Given the description of an element on the screen output the (x, y) to click on. 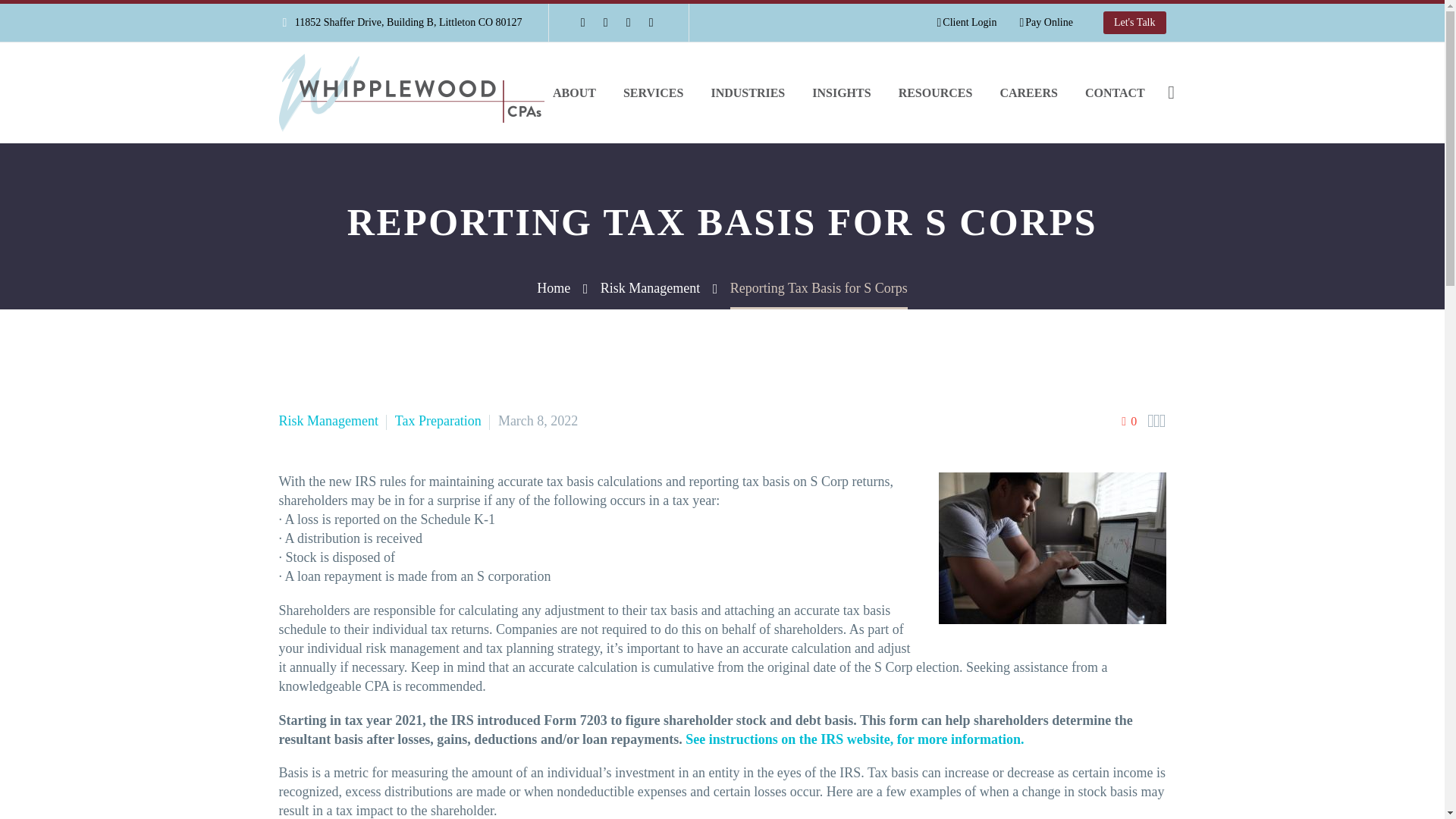
Pay Online (1045, 22)
SERVICES (652, 92)
View all posts in Tax Preparation (437, 420)
View all posts in Risk Management (328, 420)
Twitter (628, 22)
Client Login (965, 22)
LinkedIn (605, 22)
ABOUT (574, 92)
Facebook (583, 22)
Let's Talk (1134, 22)
Instagram (651, 22)
